Given the description of an element on the screen output the (x, y) to click on. 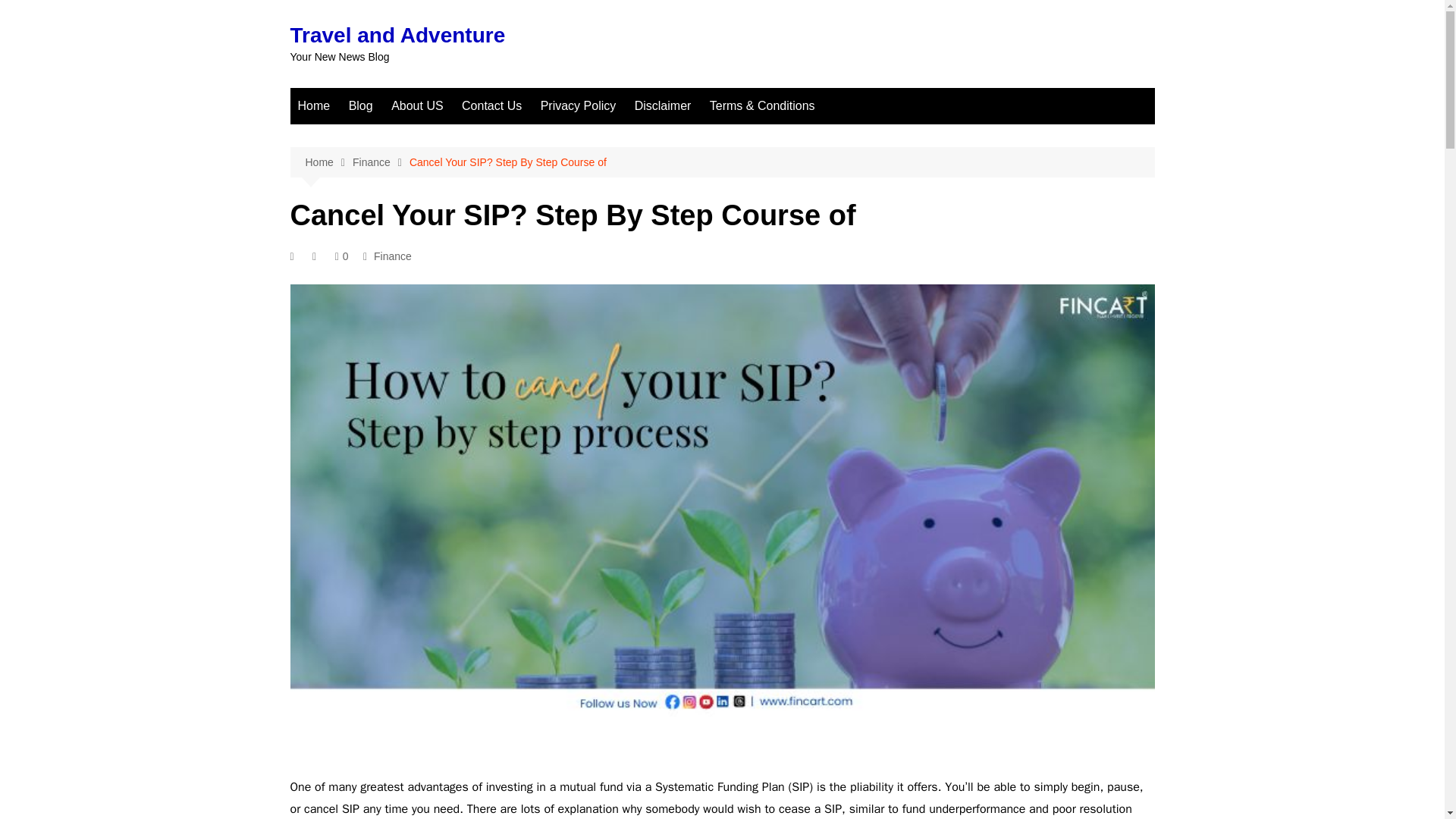
Home (328, 162)
Finance (380, 162)
Finance (393, 256)
Cancel Your SIP? Step By Step Course of (508, 161)
Contact Us (491, 105)
Disclaimer (662, 105)
About US (416, 105)
Blog (360, 105)
Privacy Policy (578, 105)
Home (313, 105)
